Given the description of an element on the screen output the (x, y) to click on. 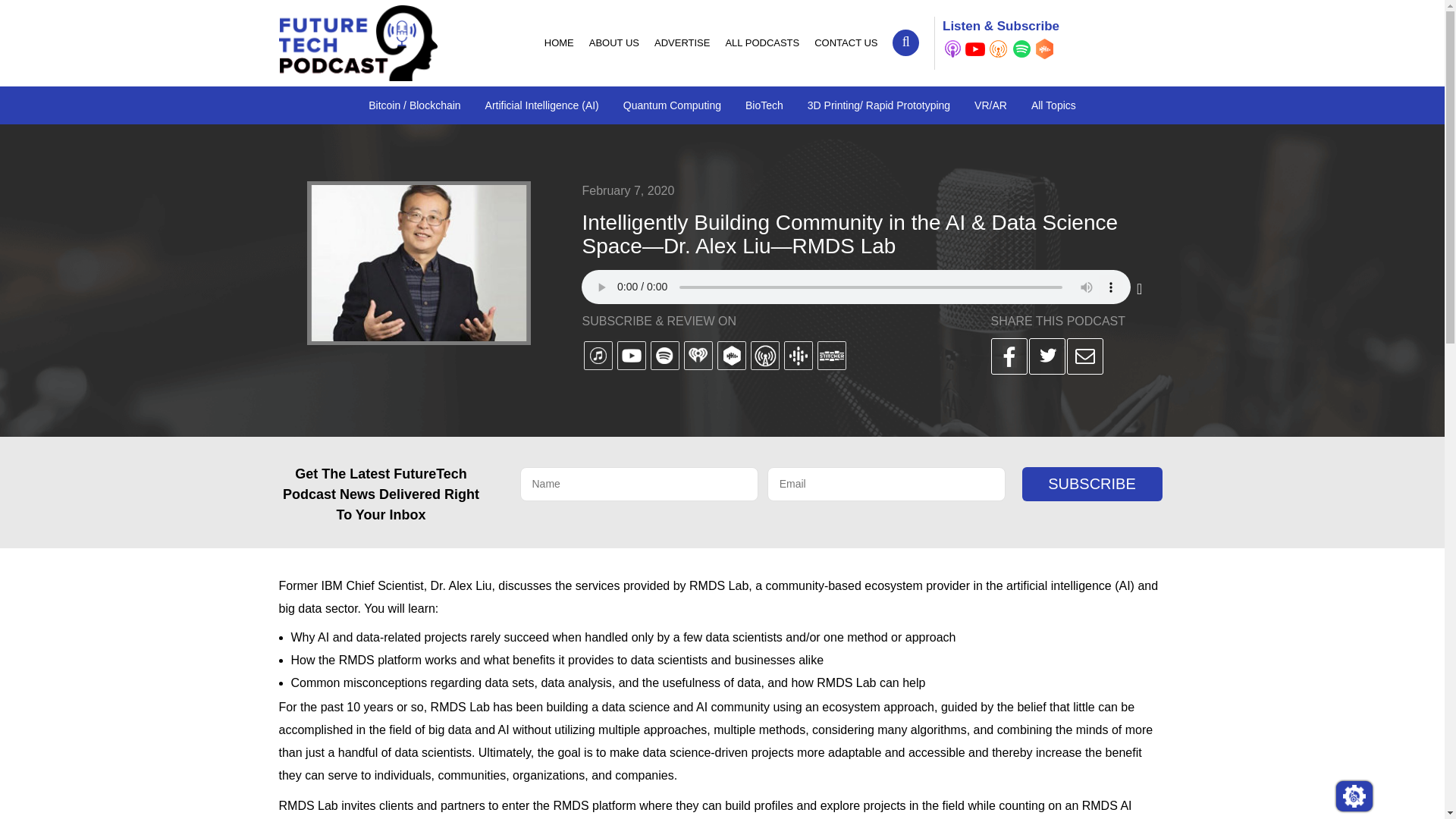
Spotify (1020, 47)
ALL PODCASTS (761, 42)
BioTech (763, 105)
All Podcasts (761, 42)
ABOUT US (613, 42)
Castbox (1043, 47)
Quantum Computing (672, 105)
FutureTech Podcast (358, 42)
Subscribe (1091, 483)
About Us (613, 42)
Subscribe (1091, 483)
CONTACT US (845, 42)
Contact Us (845, 42)
ADVERTISE (681, 42)
All Topics (1053, 105)
